Given the description of an element on the screen output the (x, y) to click on. 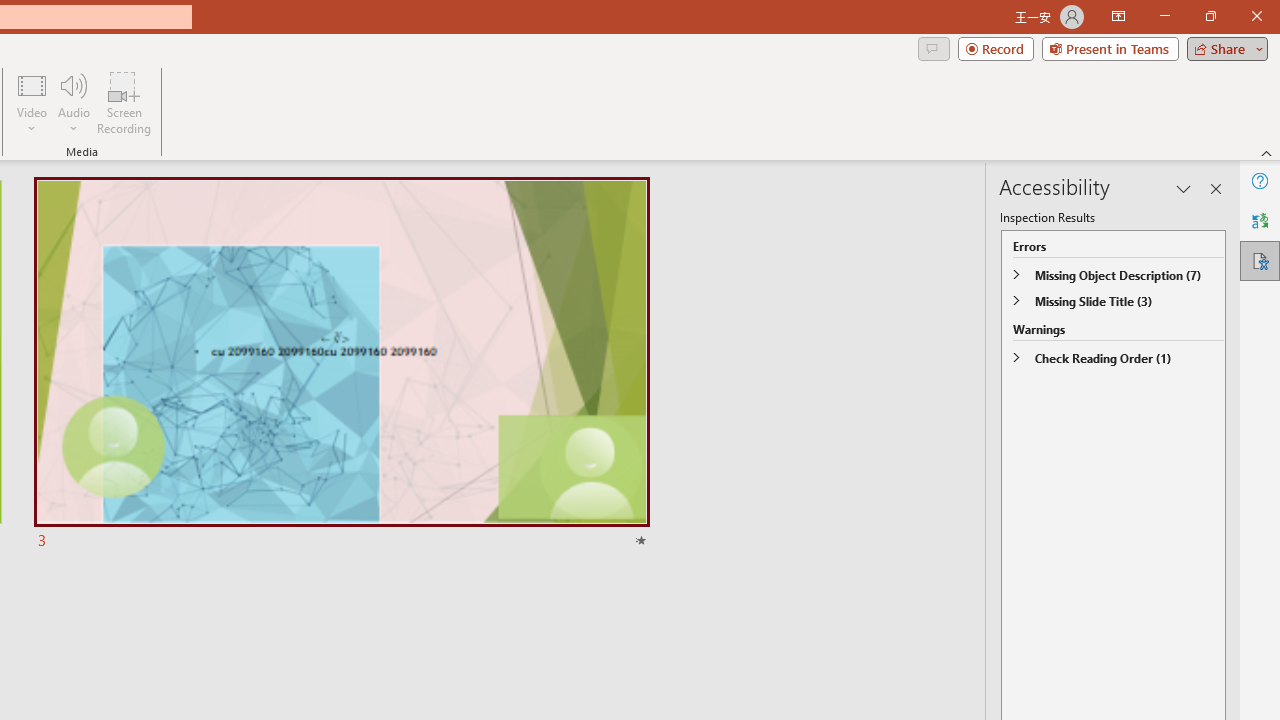
Audio (73, 102)
Screen Recording... (123, 102)
